Given the description of an element on the screen output the (x, y) to click on. 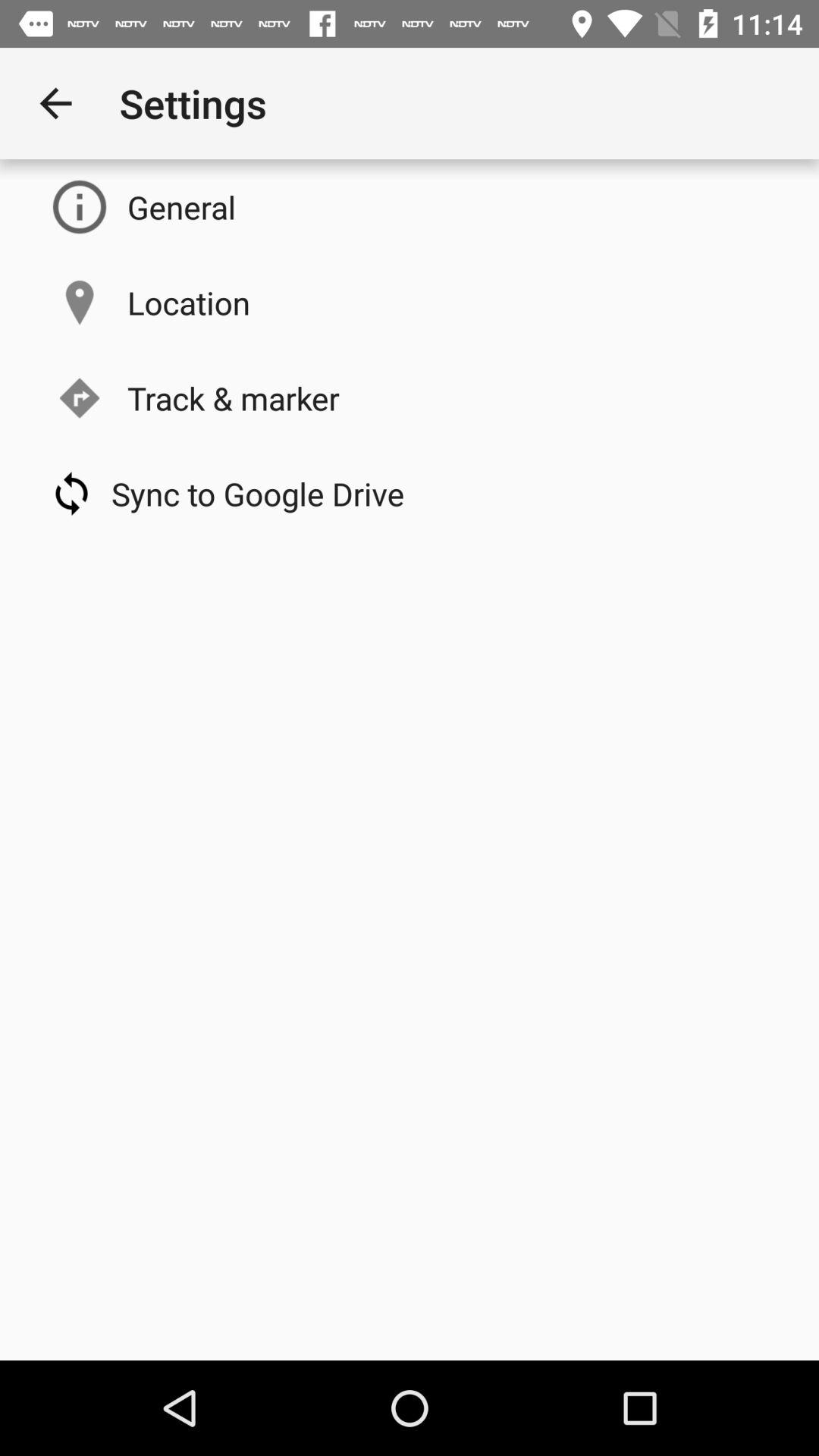
jump until the track & marker item (233, 397)
